Given the description of an element on the screen output the (x, y) to click on. 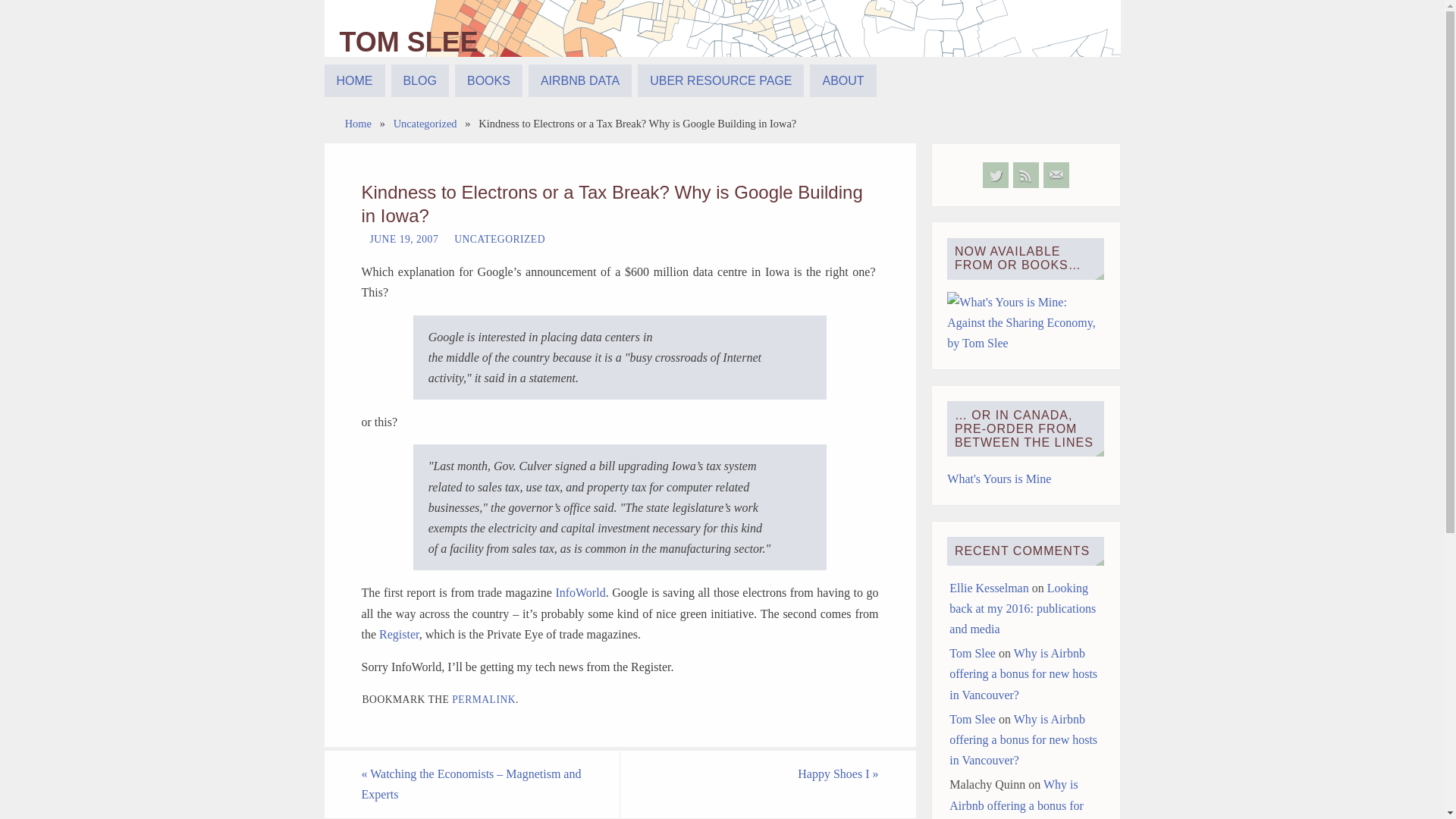
JUNE 19, 2007 (404, 238)
Home (358, 123)
ABOUT (842, 80)
BOOKS (488, 80)
Register (398, 634)
Tom Slee (722, 45)
Why is Airbnb offering a bonus for new hosts in Vancouver? (1023, 674)
Looking back at my 2016: publications and media (1022, 608)
BLOG (419, 80)
Tom Slee (409, 42)
Why is Airbnb offering a bonus for new hosts in Vancouver? (1023, 739)
Tom Slee (972, 718)
RSS (1026, 175)
Mail (1055, 175)
TOM SLEE (409, 42)
